Given the description of an element on the screen output the (x, y) to click on. 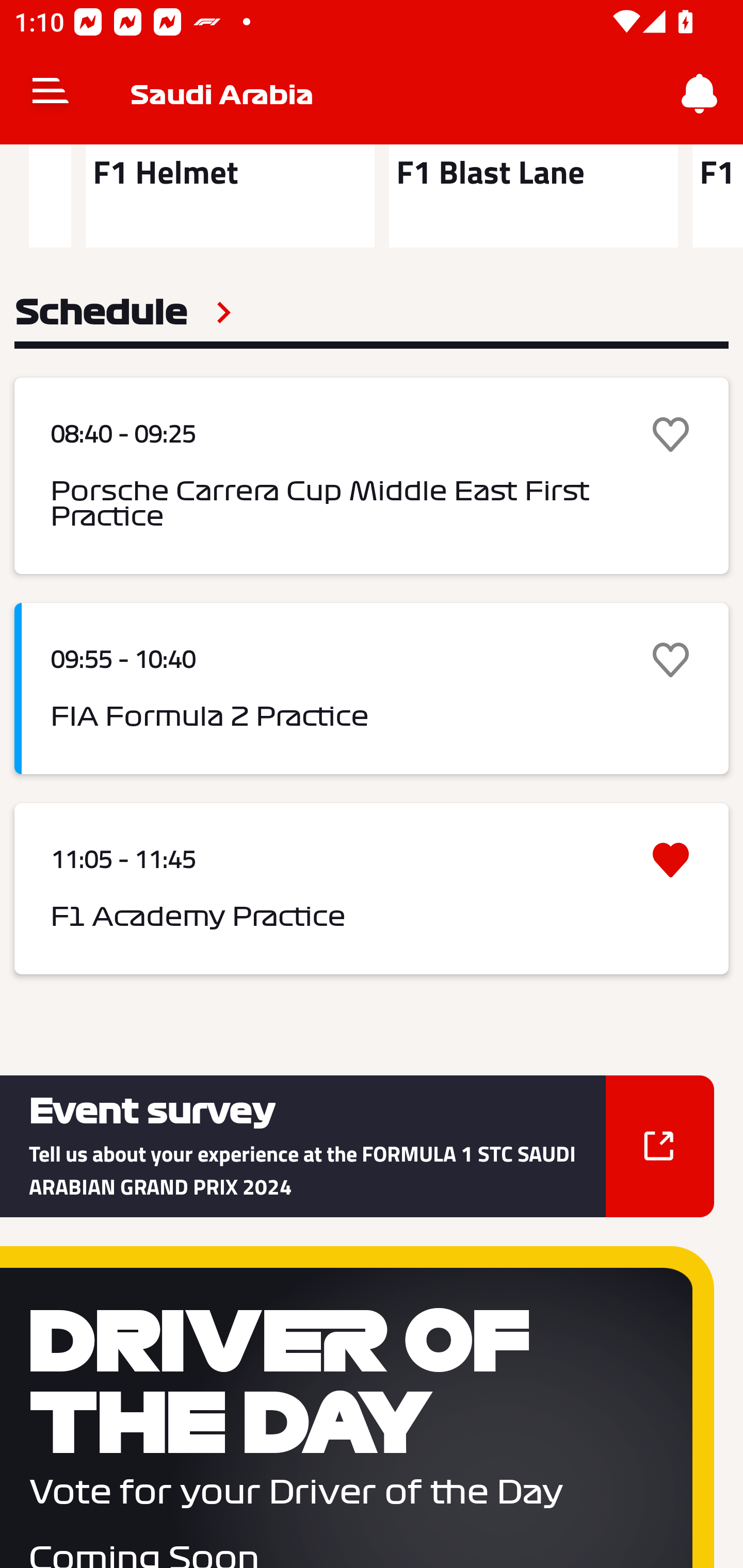
Navigate up (50, 93)
Notifications (699, 93)
F1 Helmet (229, 195)
F1 Blast Lane (533, 195)
Schedule (122, 312)
09:55 - 10:40 FIA Formula 2 Practice (371, 688)
11:05 - 11:45 F1 Academy Practice (371, 887)
